Given the description of an element on the screen output the (x, y) to click on. 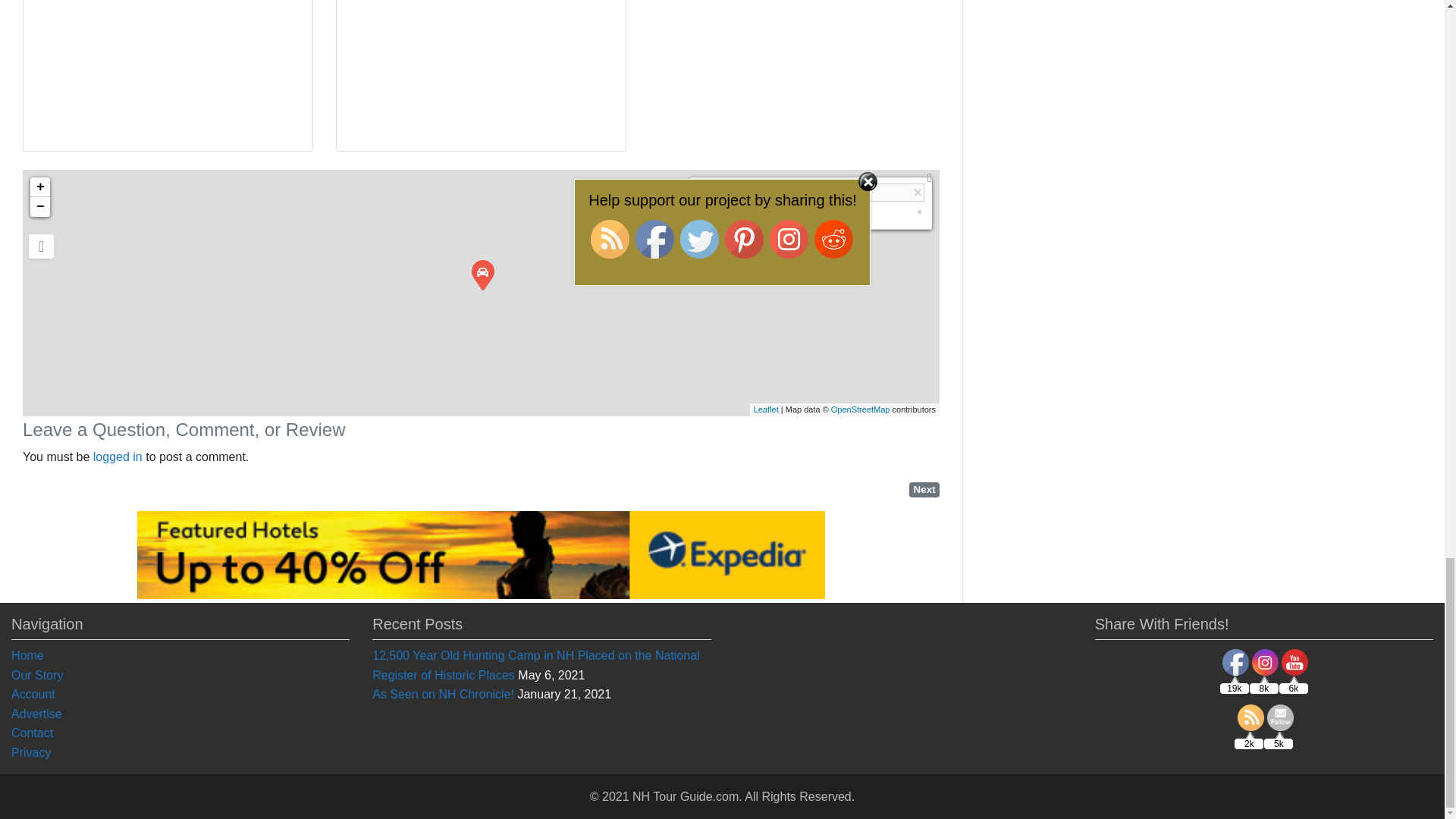
A JS library for interactive maps (766, 409)
Bartlett Covered Bridge Bartlett New Hampshire (481, 274)
Zoom in (39, 187)
Zoom out (39, 207)
